Given the description of an element on the screen output the (x, y) to click on. 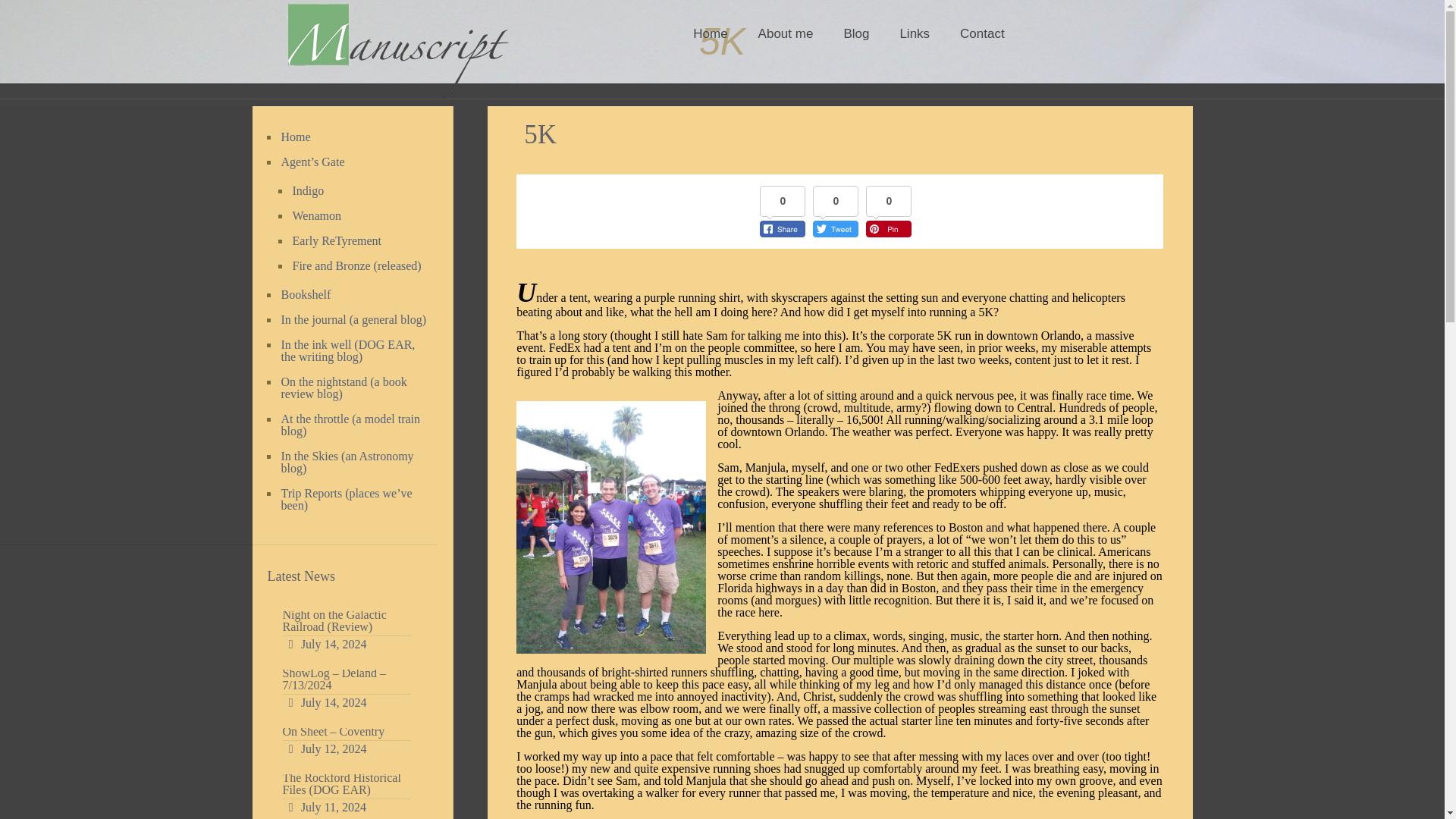
Links (913, 33)
Home (710, 33)
About me (785, 33)
Robert Raymond's Blogtorium (397, 49)
Home (354, 137)
Wenamon (355, 216)
Bookshelf (354, 294)
Indigo (355, 191)
Contact (982, 33)
Blog (855, 33)
Early ReTyrement (355, 241)
